Given the description of an element on the screen output the (x, y) to click on. 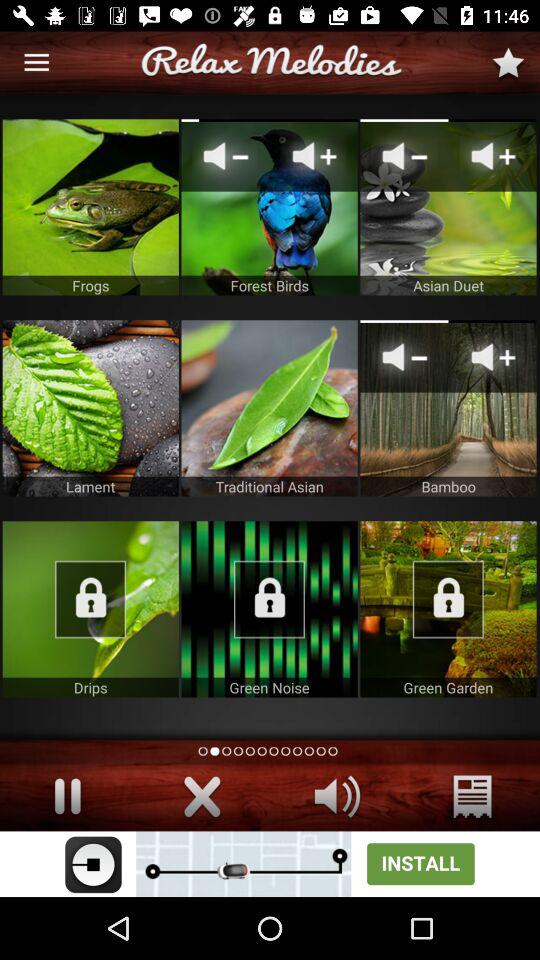
close sound (202, 796)
